Given the description of an element on the screen output the (x, y) to click on. 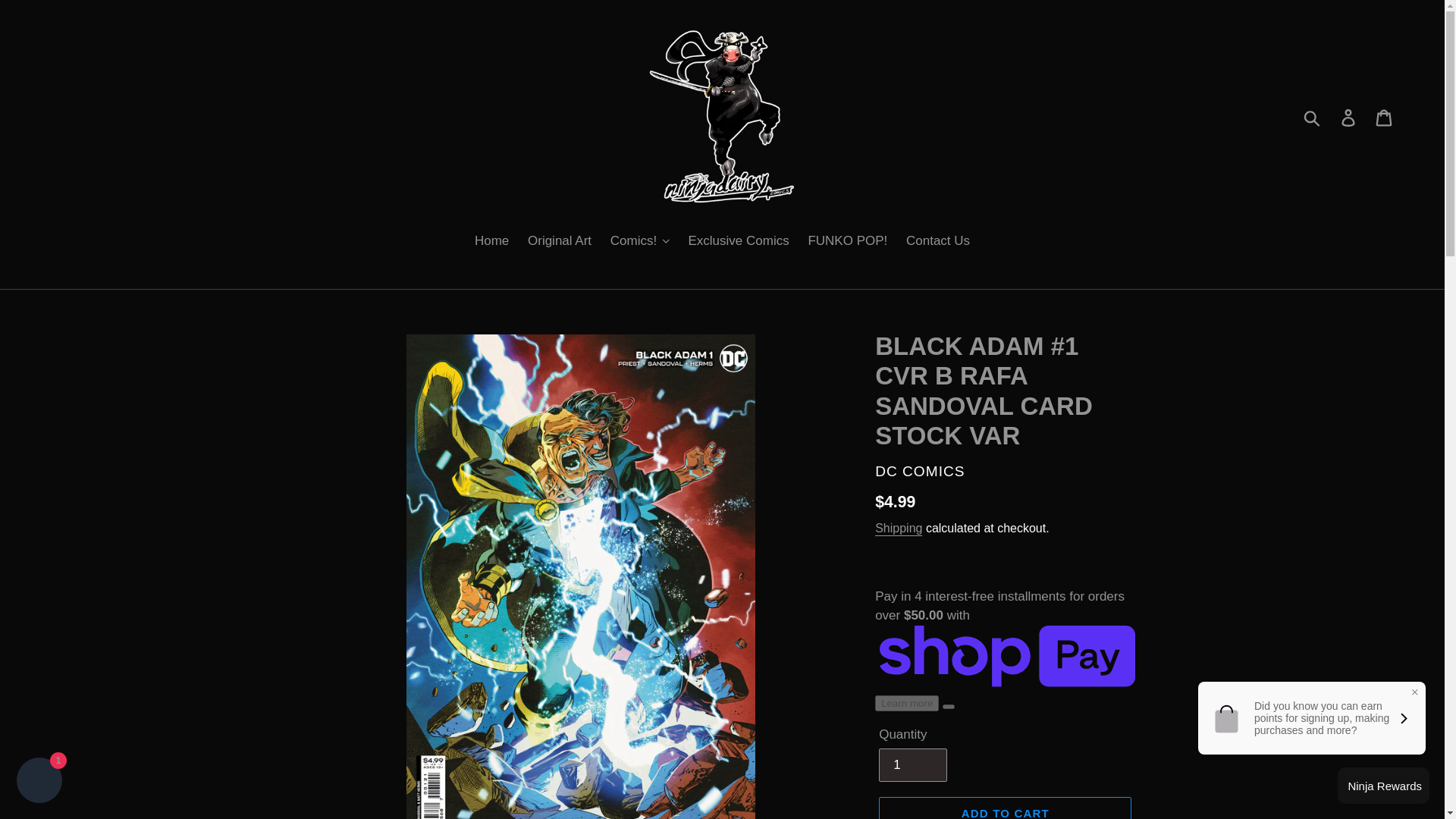
Original Art (558, 241)
Submit (1313, 117)
Shopify online store chat (38, 781)
1 (913, 765)
Home (491, 241)
Cart (1385, 117)
Log in (1349, 117)
LoyaltyLion beacon (1383, 785)
